Given the description of an element on the screen output the (x, y) to click on. 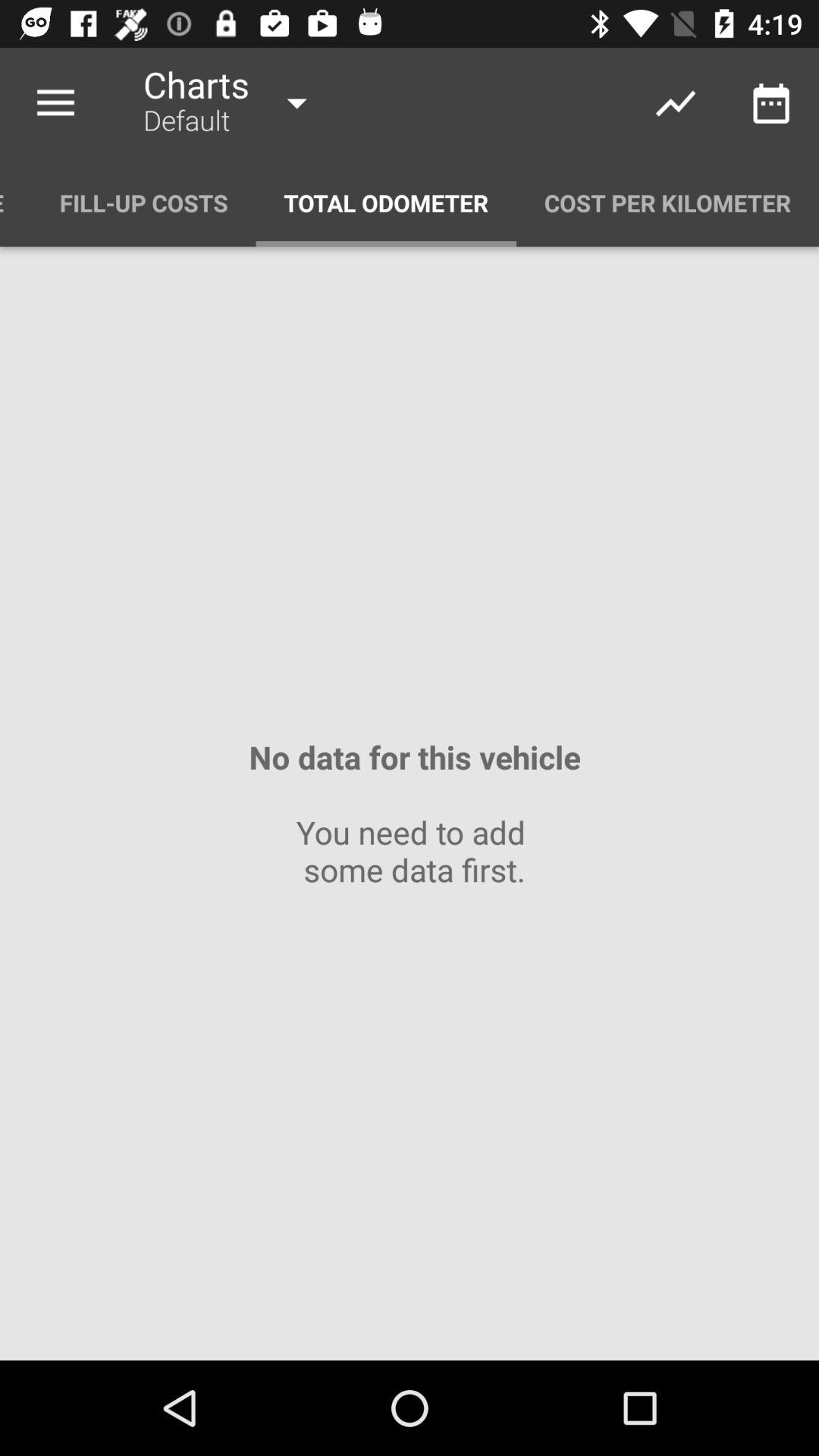
open the gas price item (15, 202)
